Given the description of an element on the screen output the (x, y) to click on. 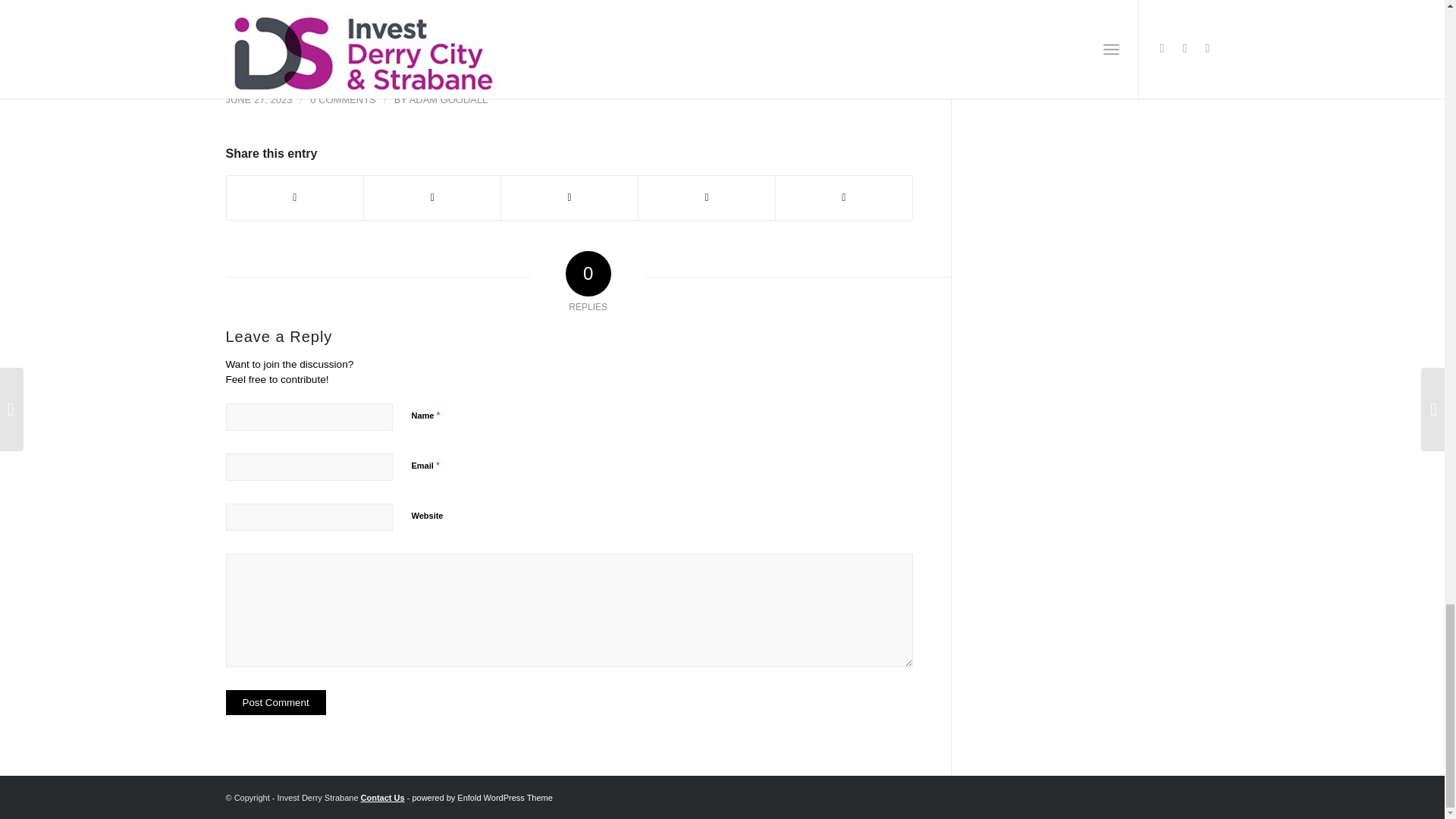
Post Comment (275, 702)
Posts by Adam Goodall (448, 99)
